Given the description of an element on the screen output the (x, y) to click on. 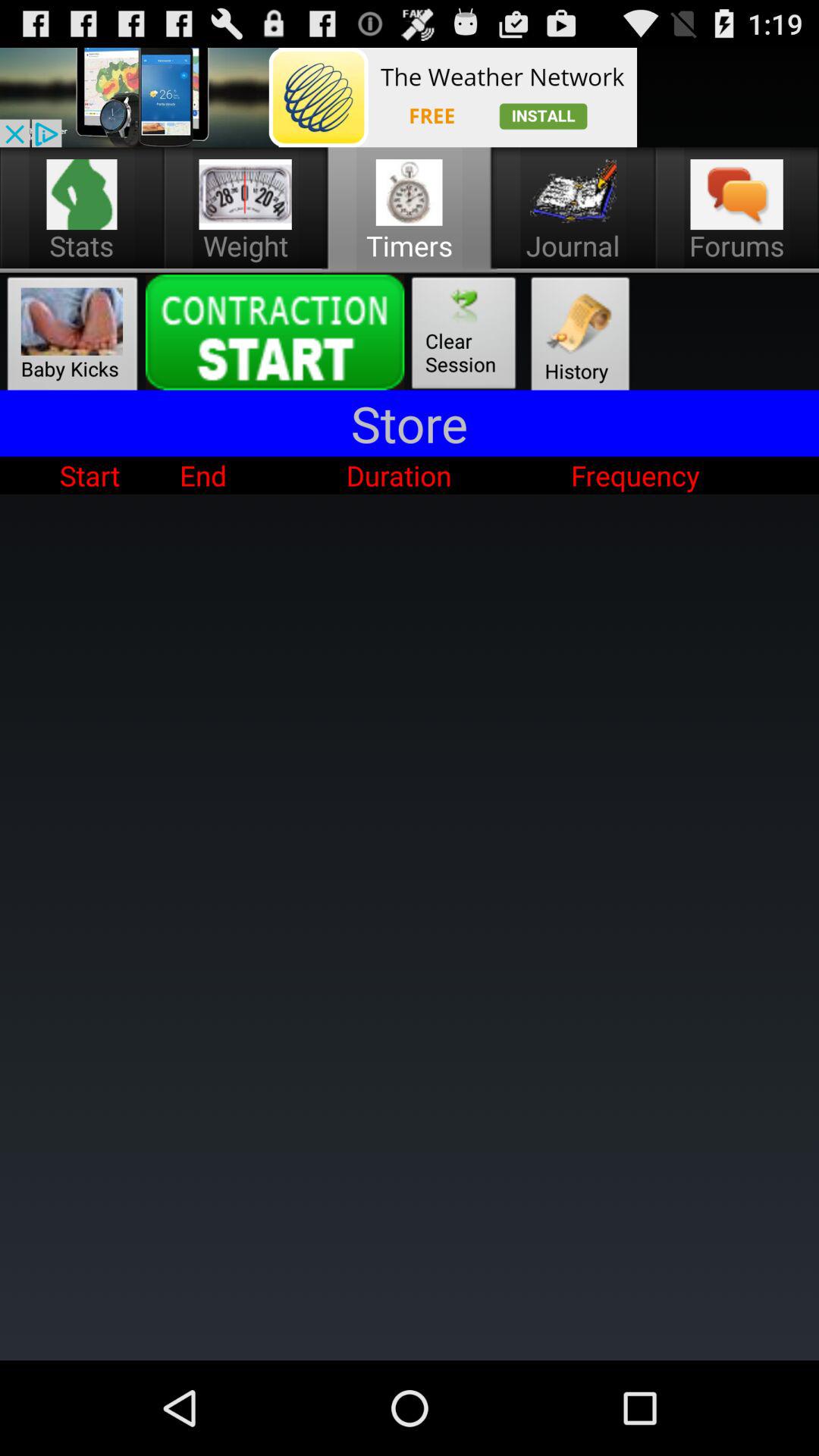
adiveristment (318, 97)
